Given the description of an element on the screen output the (x, y) to click on. 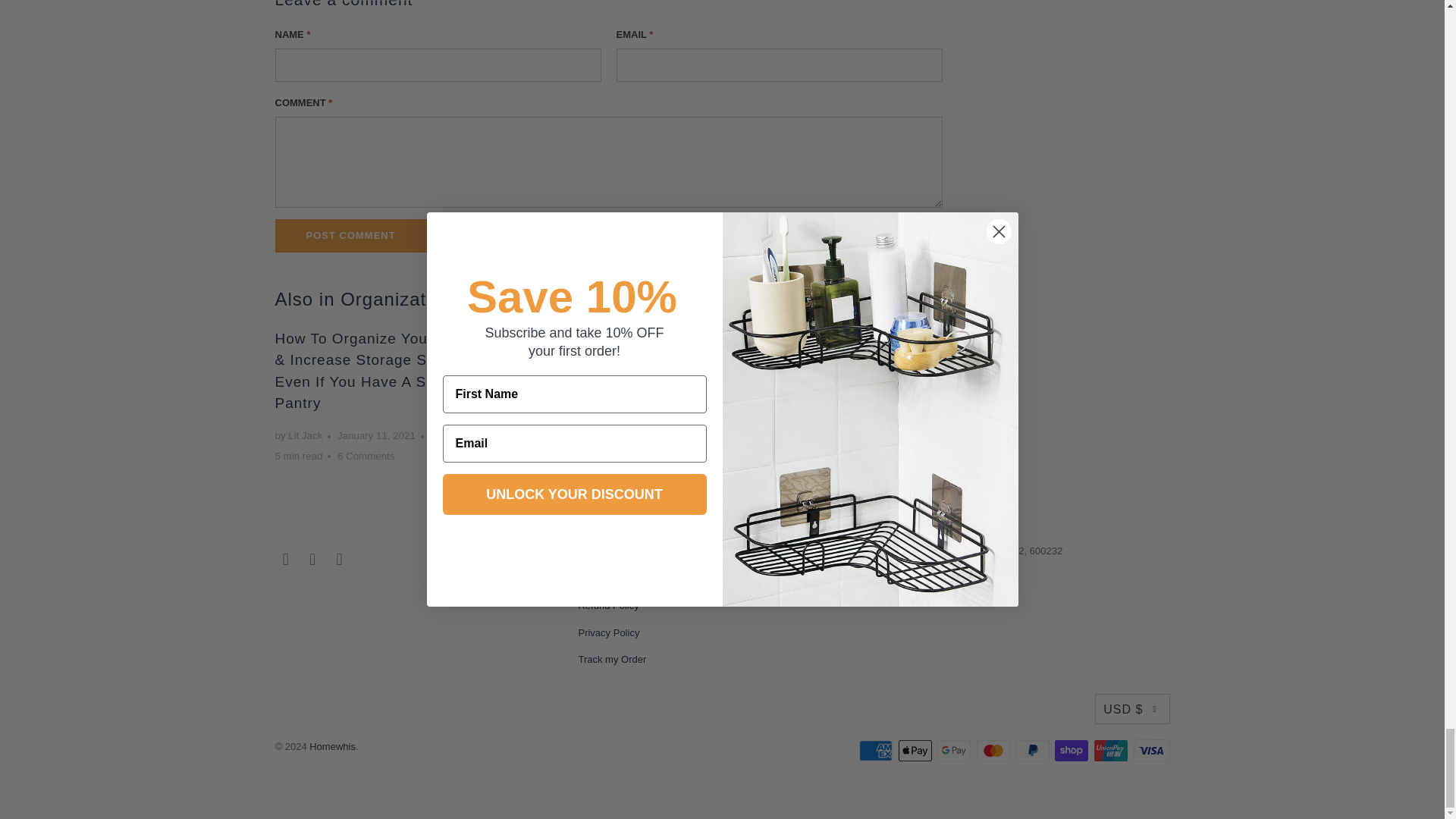
Mastercard (994, 750)
Apple Pay (916, 750)
Post comment (350, 235)
Shop Pay (1072, 750)
Union Pay (1112, 750)
PayPal (1034, 750)
Visa (1150, 750)
Google Pay (955, 750)
American Express (877, 750)
